Given the description of an element on the screen output the (x, y) to click on. 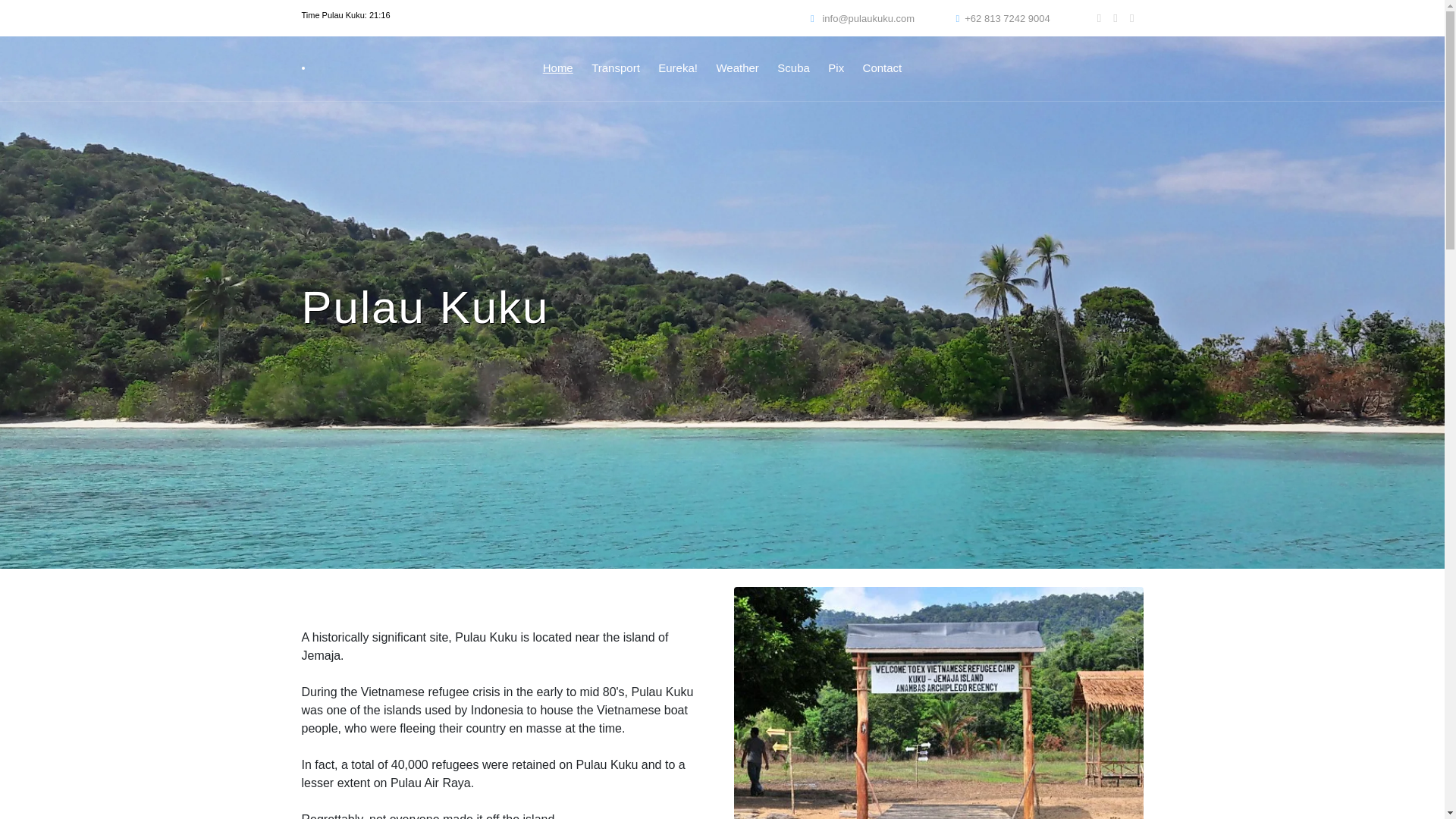
Eureka! (677, 67)
Home (558, 67)
Contact (882, 67)
Pix (836, 67)
Scuba (793, 67)
Transport (615, 67)
Weather (737, 67)
